Given the description of an element on the screen output the (x, y) to click on. 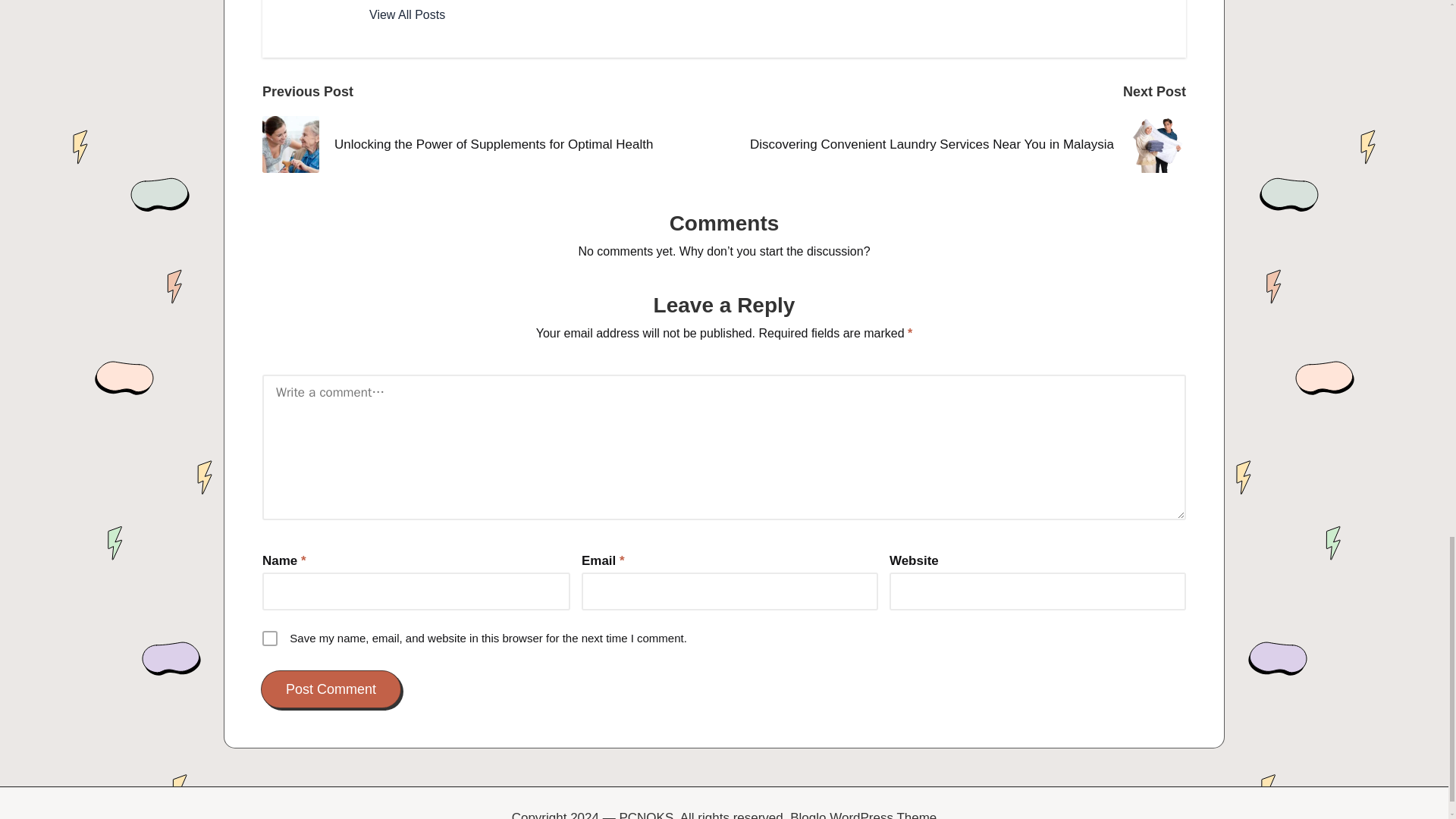
Discovering Convenient Laundry Services Near You in Malaysia (954, 144)
Post Comment (330, 689)
Unlocking the Power of Supplements for Optimal Health (492, 144)
Bloglo WordPress Theme (863, 812)
View All Posts (407, 14)
Post Comment (330, 689)
yes (270, 638)
